Given the description of an element on the screen output the (x, y) to click on. 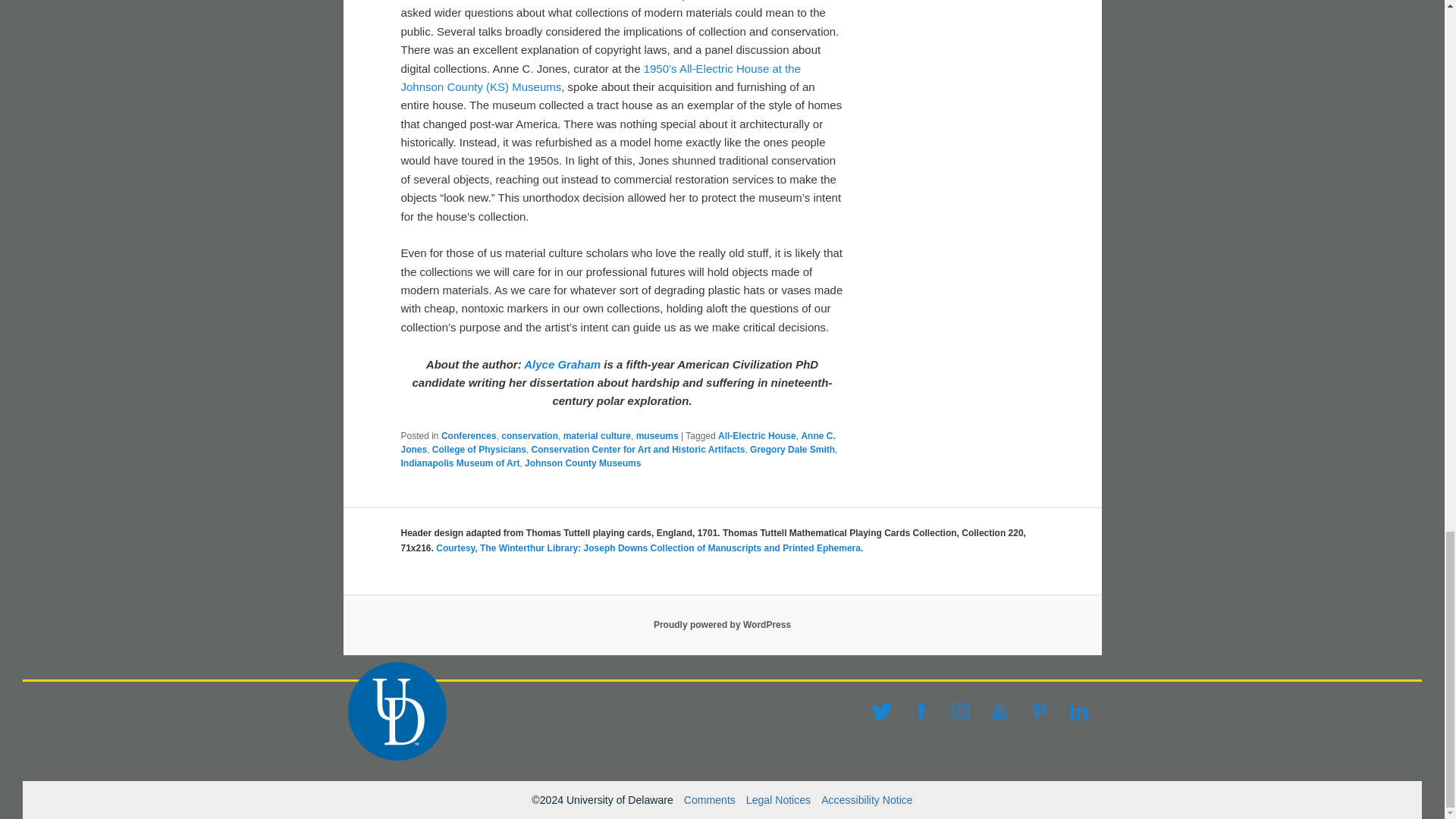
Alyce Graham (561, 364)
museums (657, 435)
Anne C. Jones (617, 442)
Conferences (468, 435)
Proudly powered by WordPress (721, 624)
material culture (596, 435)
Subscribe me! (1027, 388)
conservation (528, 435)
Alyce Graham Bio (561, 364)
